Given the description of an element on the screen output the (x, y) to click on. 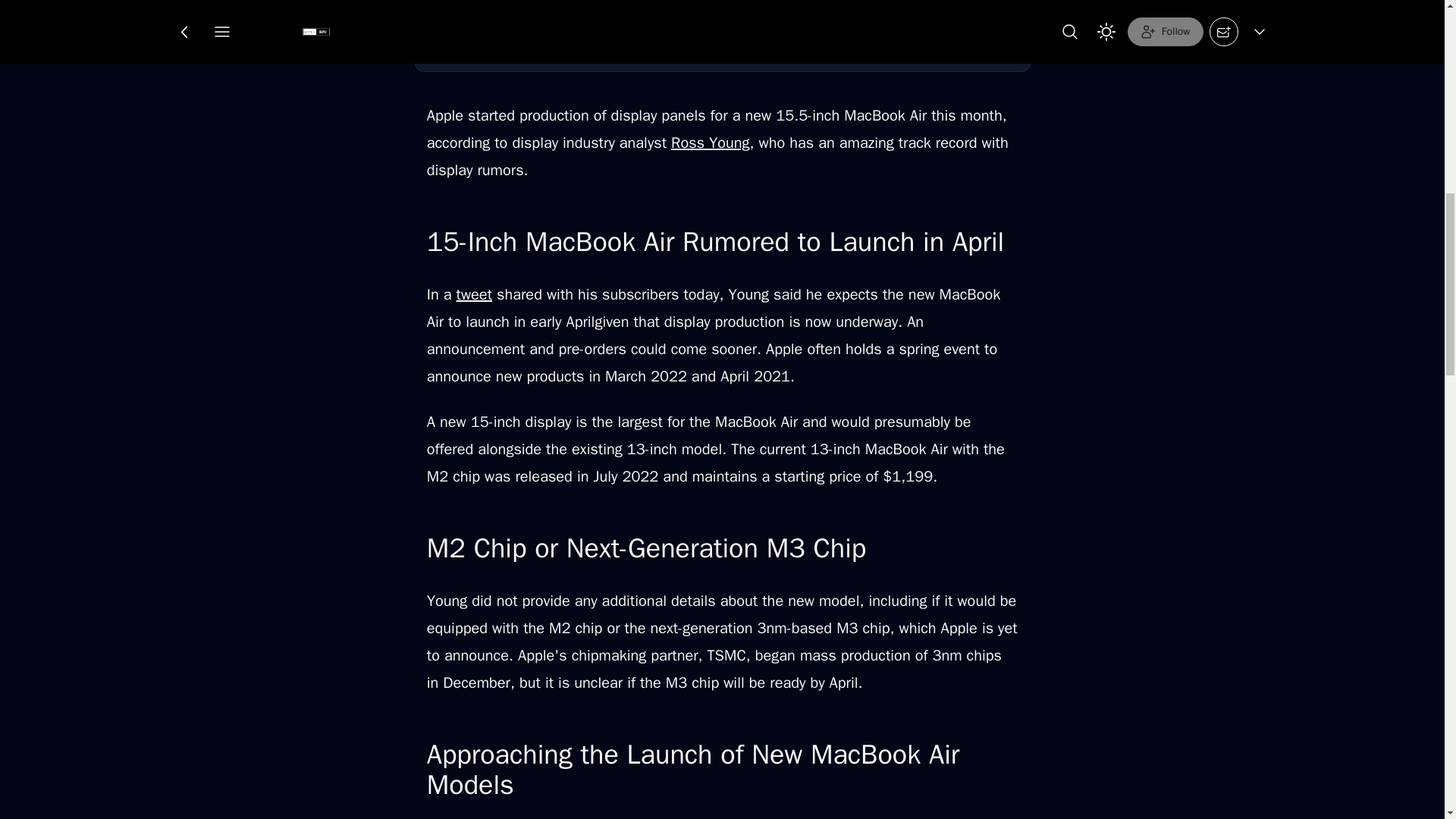
Approaching the Launch of New MacBook Air Models (722, 40)
tweet (475, 294)
M2 Chip or Next-Generation M3 Chip (722, 11)
Add Bookmark (765, 24)
Ross Young (710, 142)
